Given the description of an element on the screen output the (x, y) to click on. 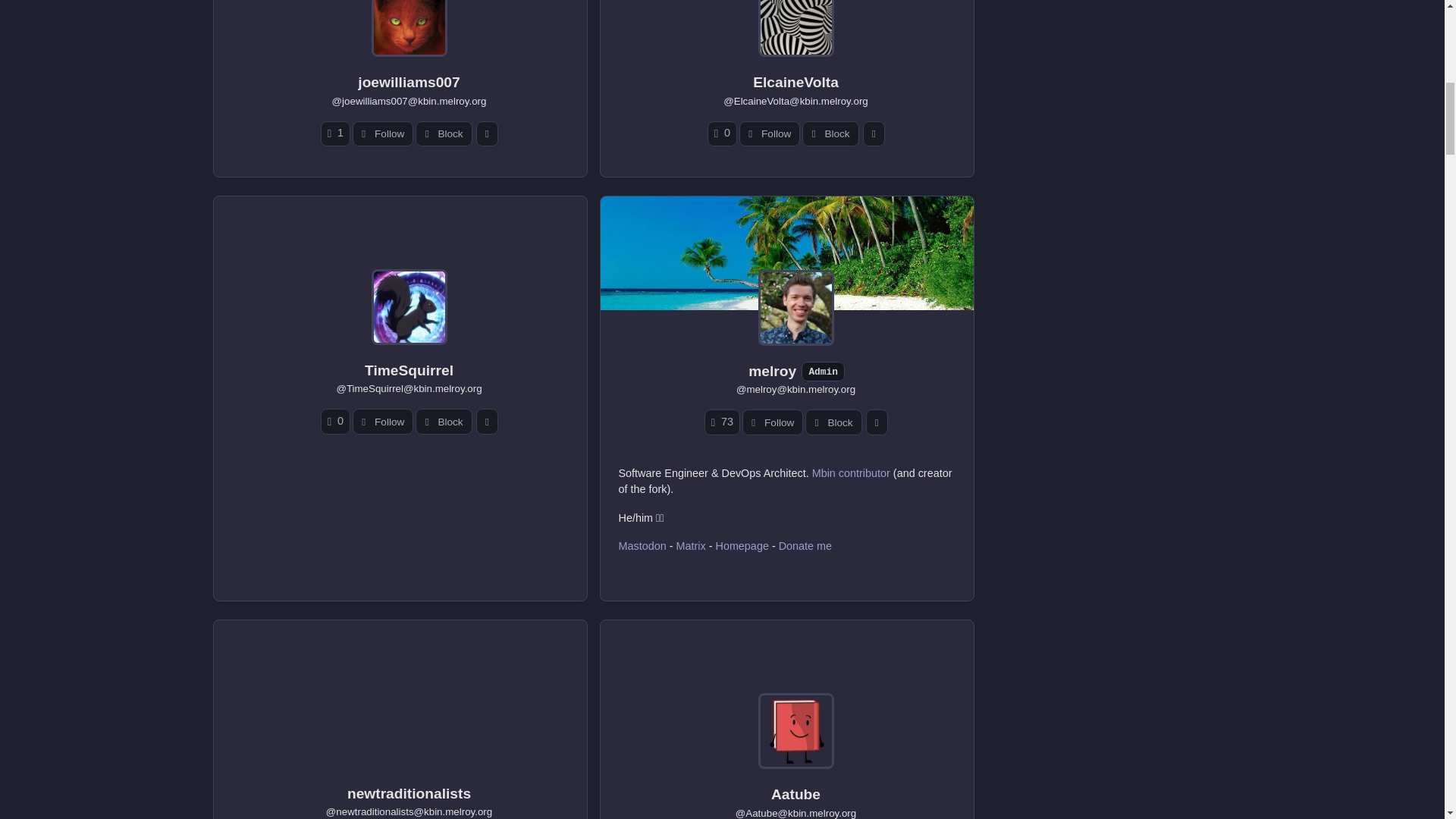
73 Followers (721, 421)
0 Followers (721, 133)
0 Followers (335, 421)
Follow (382, 133)
Block (442, 133)
Admin (823, 371)
1 Follower (335, 133)
joewilliams007 (409, 82)
